Given the description of an element on the screen output the (x, y) to click on. 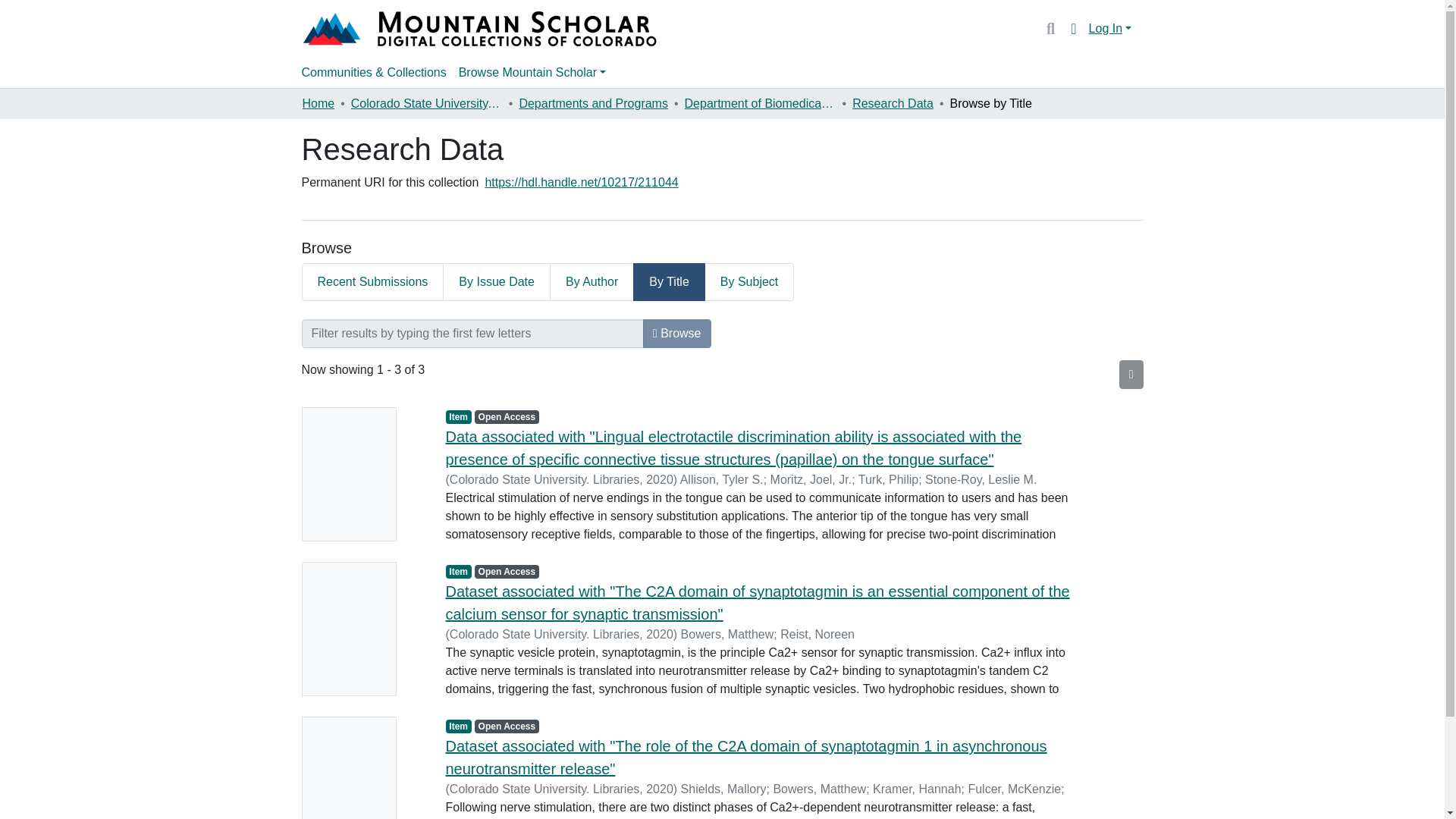
Log In (1110, 28)
By Subject (748, 281)
By Issue Date (497, 281)
Home (317, 104)
Recent Submissions (372, 281)
Browse Mountain Scholar (531, 72)
Research Data (892, 104)
Colorado State University, Fort Collins (426, 104)
Department of Biomedical Sciences (759, 104)
No Thumbnail Available (362, 628)
